Given the description of an element on the screen output the (x, y) to click on. 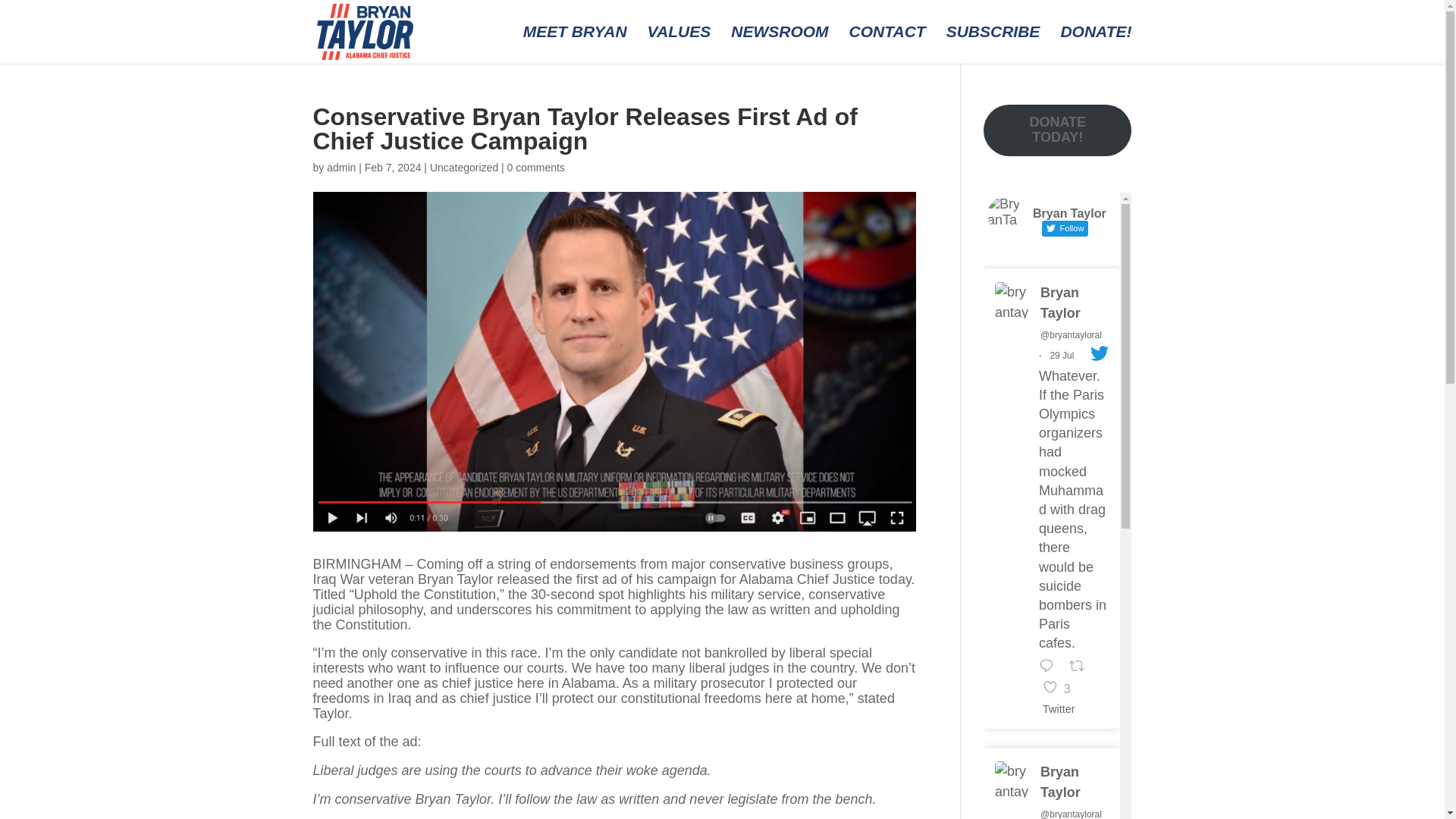
CONTACT (887, 44)
MEET BRYAN (574, 44)
Bryan Taylor Follow (1051, 217)
Posts by admin (340, 167)
DONATE TODAY! (1057, 130)
NEWSROOM (779, 44)
Twitter 1817736584646607194 (1058, 687)
29 Jul (1061, 709)
Reply on Twitter 1817736584646607194 (1061, 355)
